Given the description of an element on the screen output the (x, y) to click on. 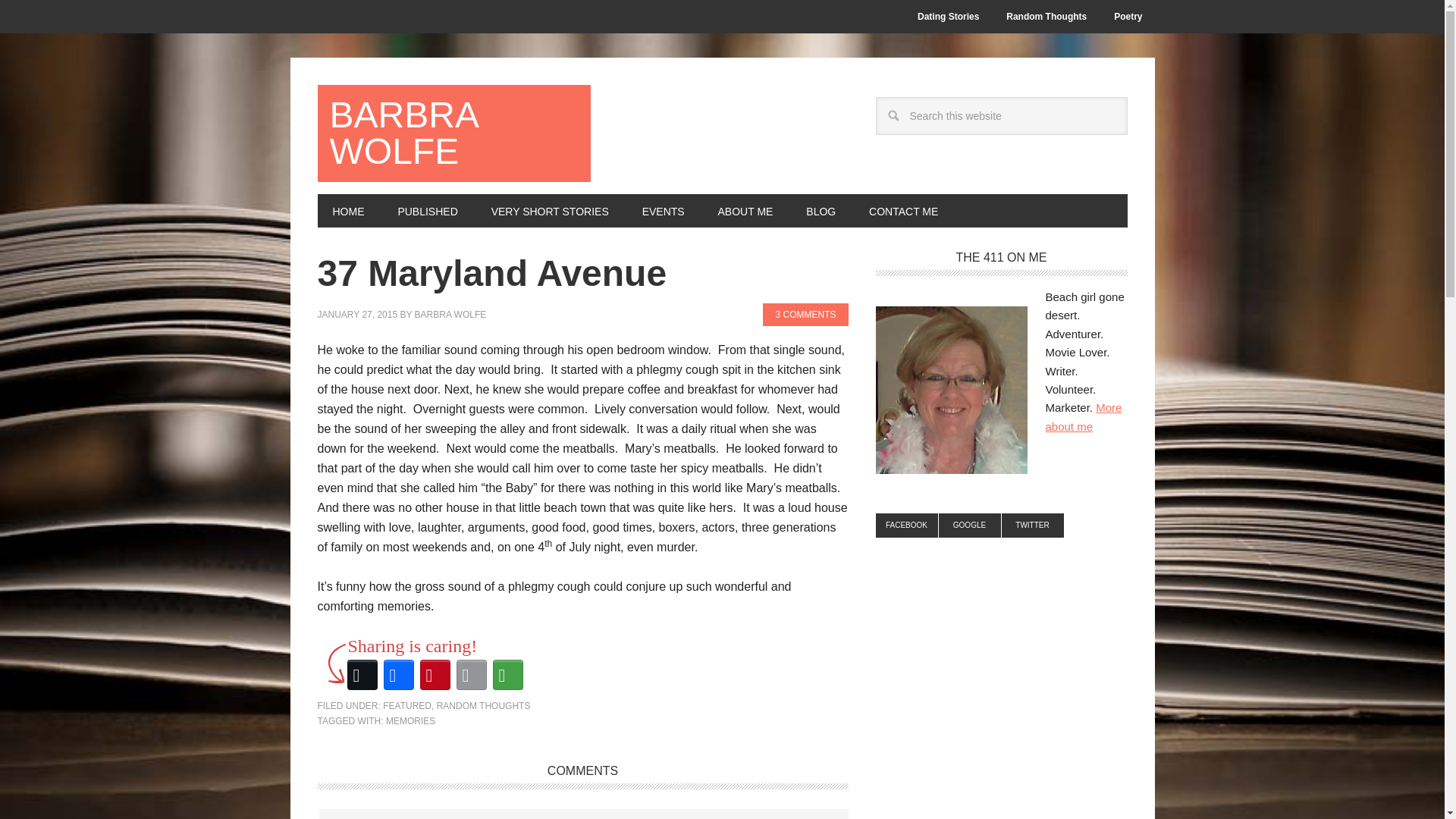
RANDOM THOUGHTS (483, 706)
CONTACT ME (903, 210)
BLOG (820, 210)
MEMORIES (410, 720)
Pinterest (434, 674)
Dating Stories (948, 16)
FEATURED (406, 706)
More Options (507, 674)
Email This (470, 674)
PUBLISHED (426, 210)
More about me (1083, 416)
BARBRA WOLFE (450, 314)
BARBRA WOLFE (453, 133)
